Given the description of an element on the screen output the (x, y) to click on. 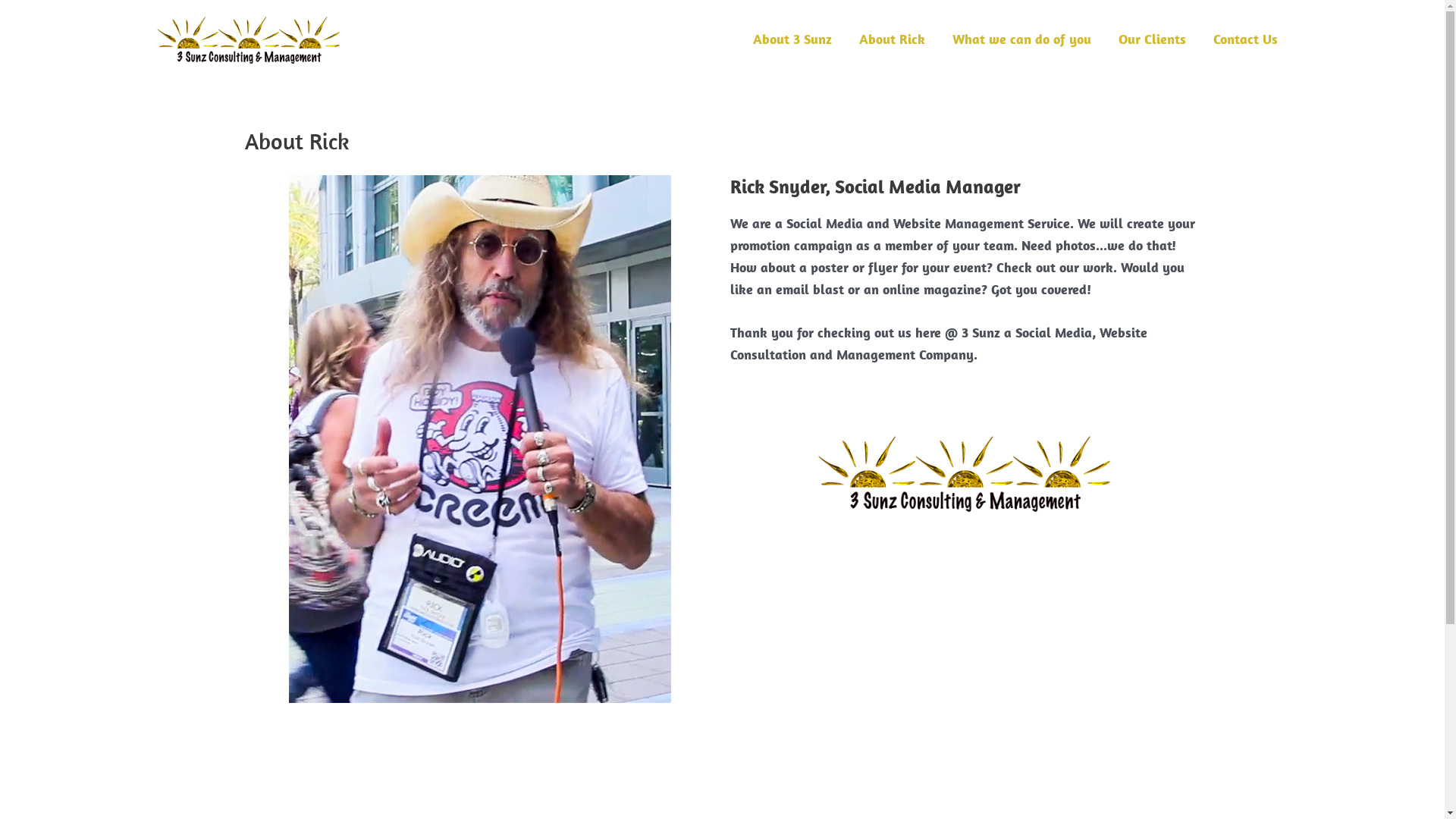
Contact Us Element type: text (1245, 38)
What we can do of you Element type: text (1021, 38)
About 3 Sunz Element type: text (791, 38)
About Rick Element type: text (891, 38)
Our Clients Element type: text (1151, 38)
